Given the description of an element on the screen output the (x, y) to click on. 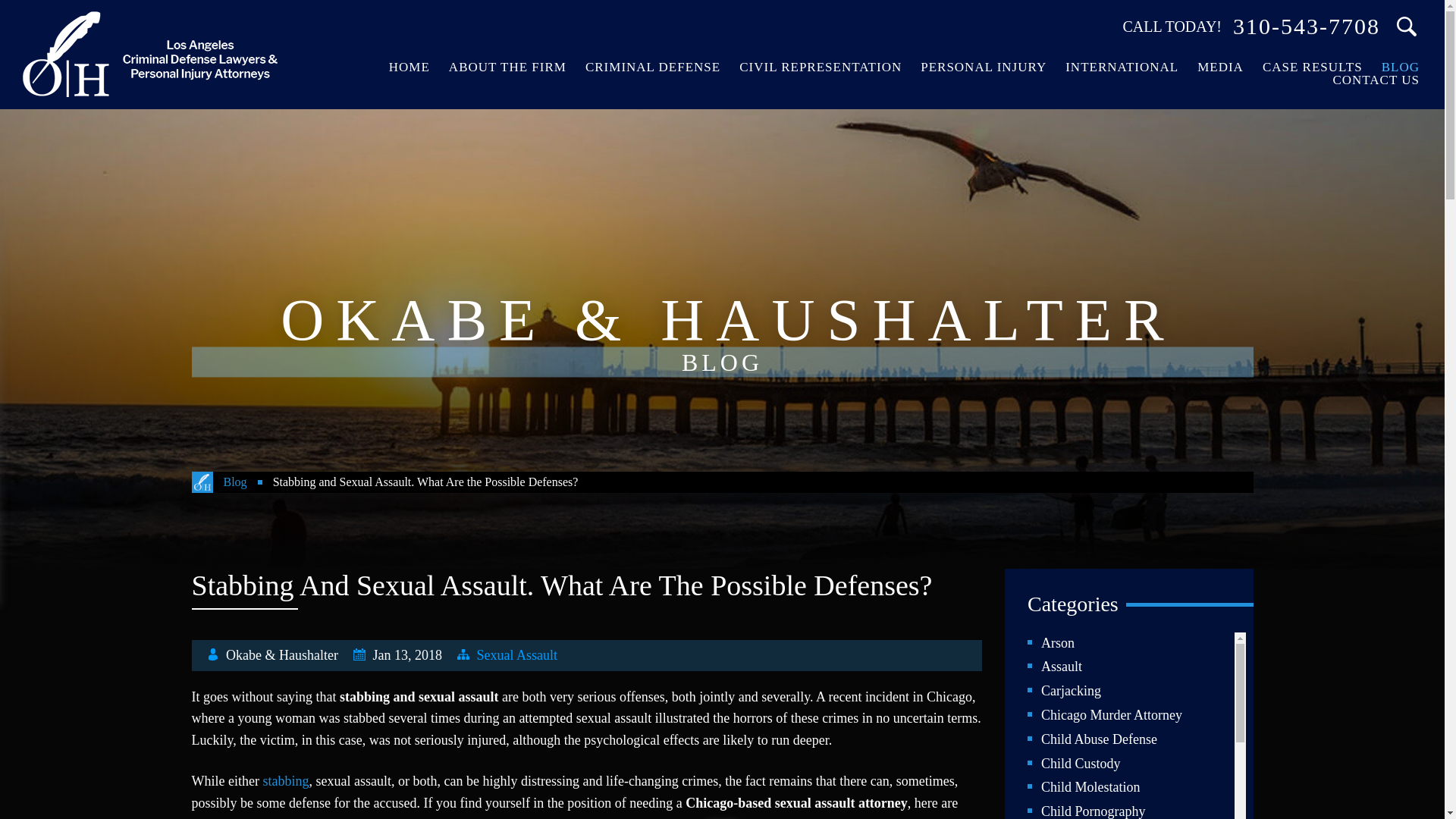
Search Here (1406, 26)
ABOUT THE FIRM (507, 66)
CRIMINAL DEFENSE (652, 66)
310-543-7708 (1306, 26)
Home (409, 66)
HOME (409, 66)
About The Firm (507, 66)
310-543-7708 (1306, 26)
